Given the description of an element on the screen output the (x, y) to click on. 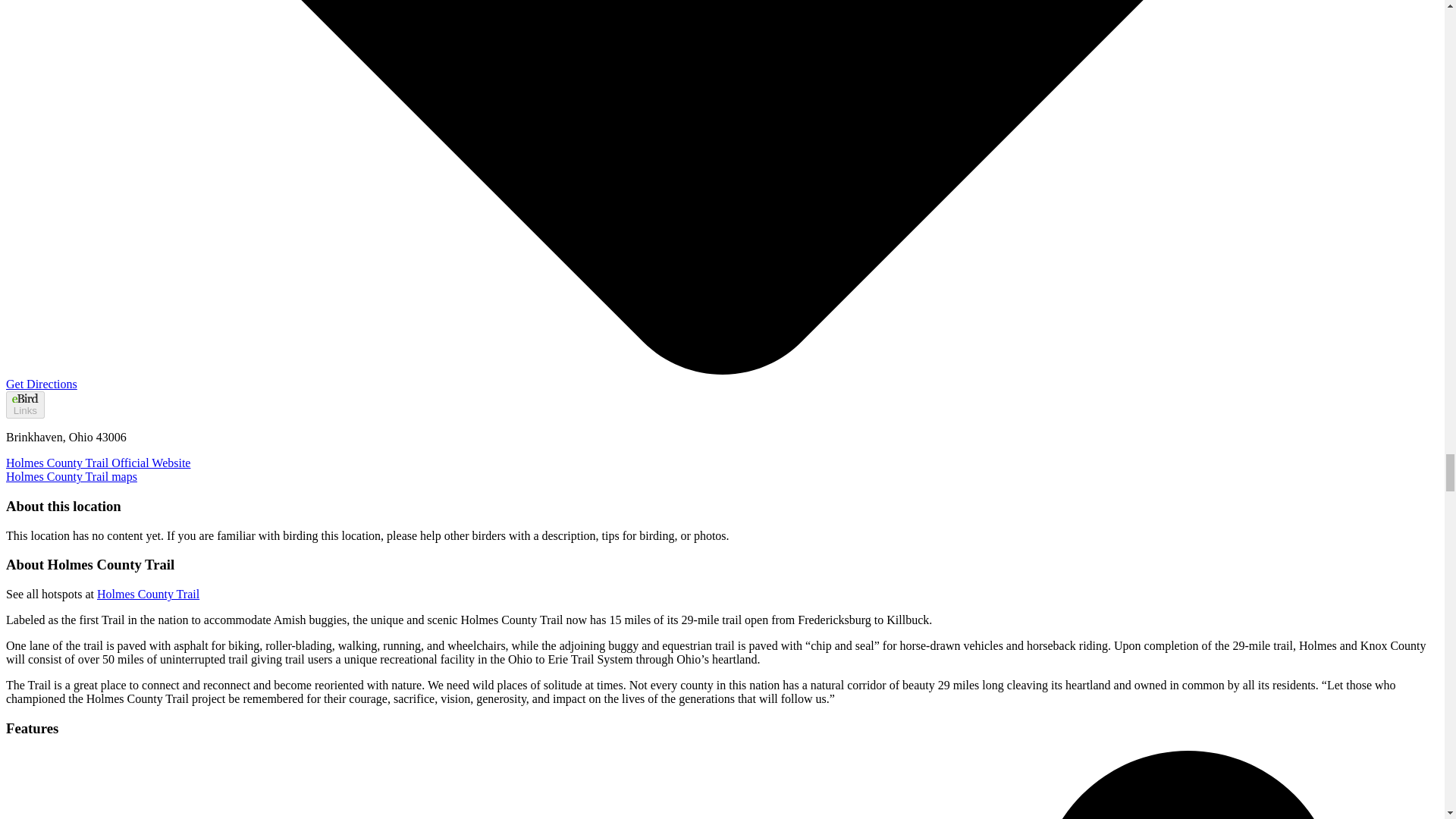
eBird (24, 397)
eBird Links (25, 405)
Holmes County Trail Official Website (97, 462)
Holmes County Trail maps (70, 476)
Holmes County Trail (148, 594)
